Given the description of an element on the screen output the (x, y) to click on. 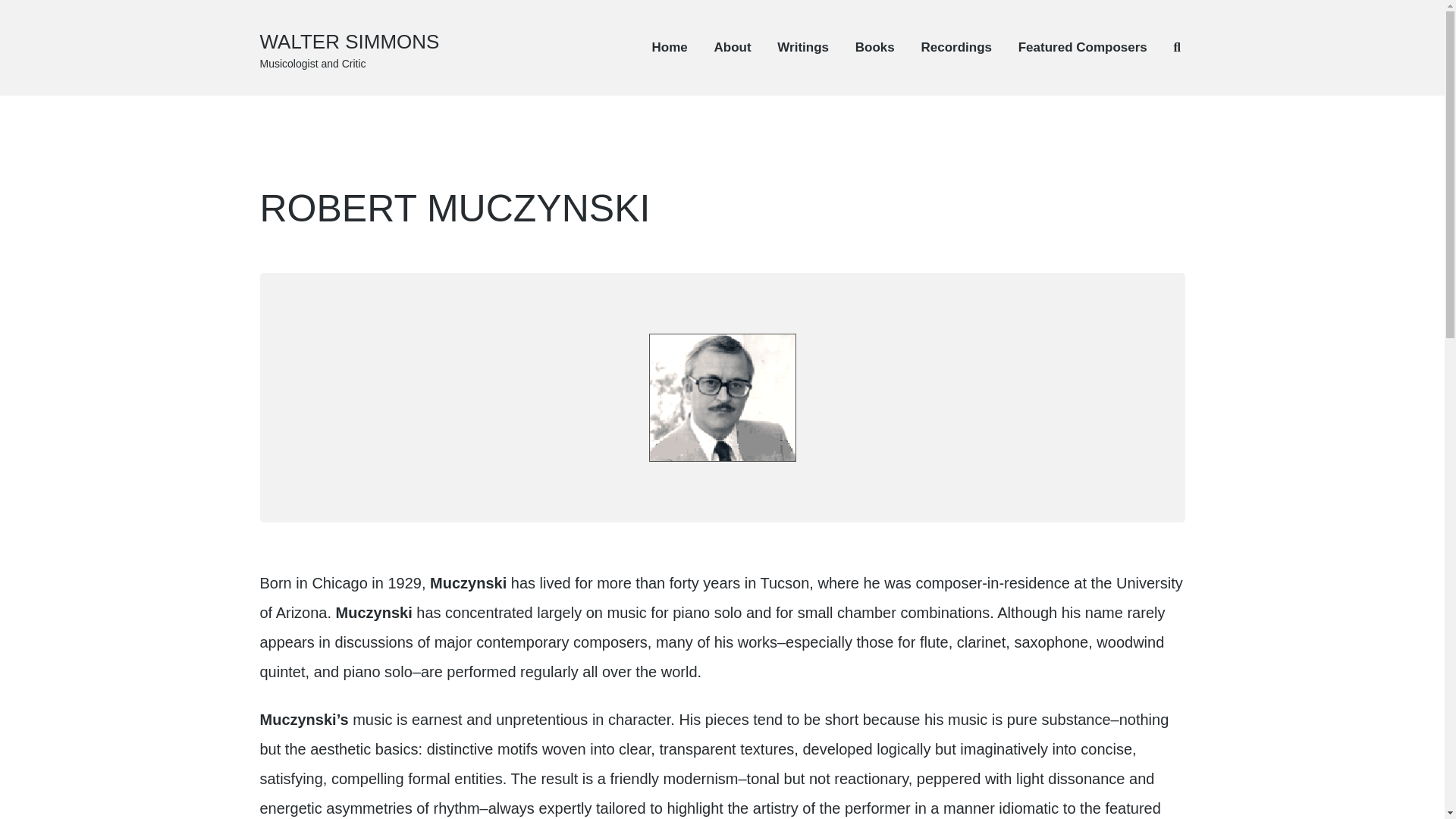
Writings (802, 47)
Books (875, 47)
Home (669, 47)
About (732, 47)
WALTER SIMMONS (349, 41)
Featured Composers (1082, 47)
Recordings (955, 47)
